Given the description of an element on the screen output the (x, y) to click on. 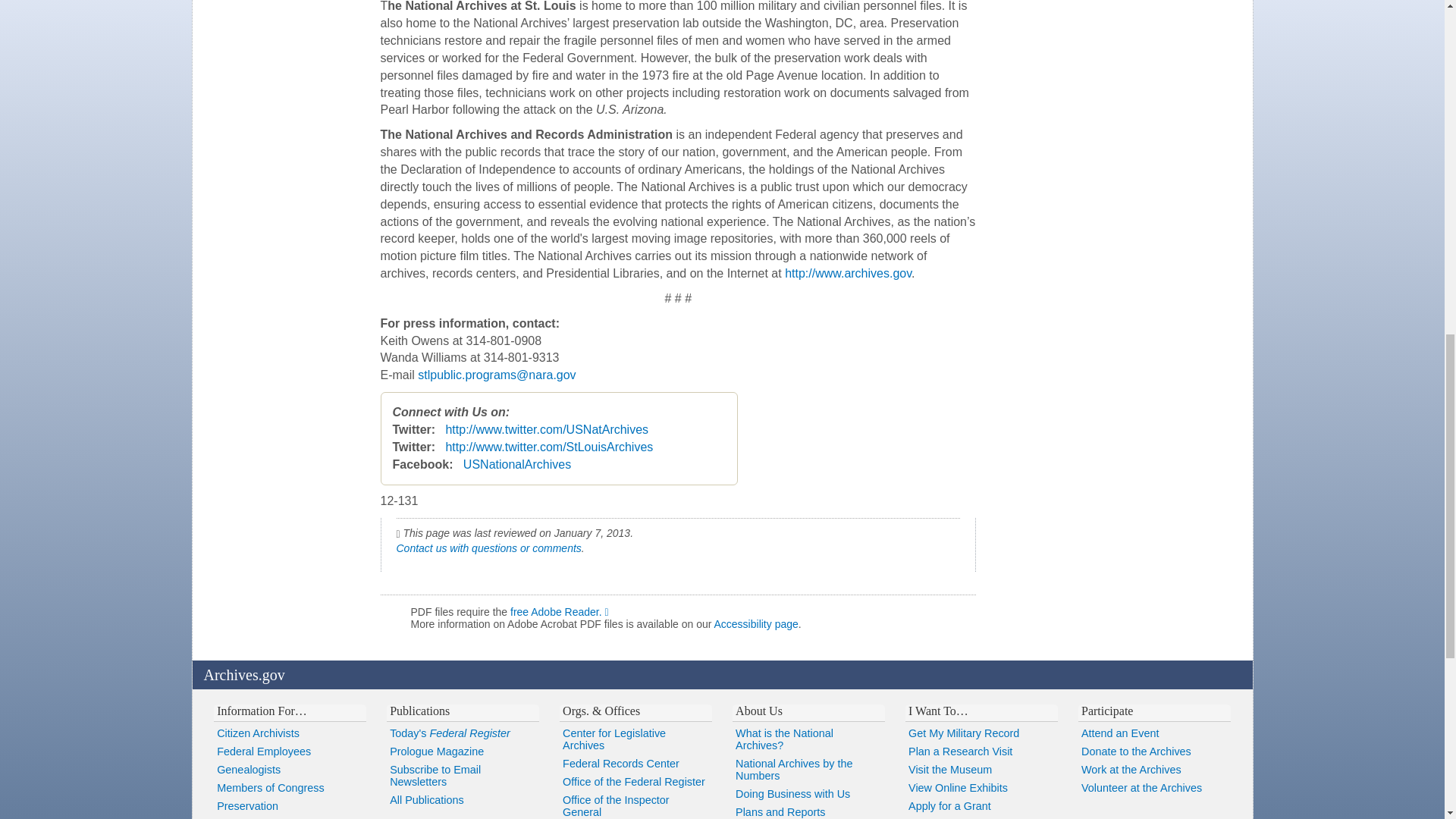
Accessibility page (755, 623)
Contact us with questions or comments (488, 548)
USNationalArchives (516, 463)
free Adobe Reader. (563, 612)
